Given the description of an element on the screen output the (x, y) to click on. 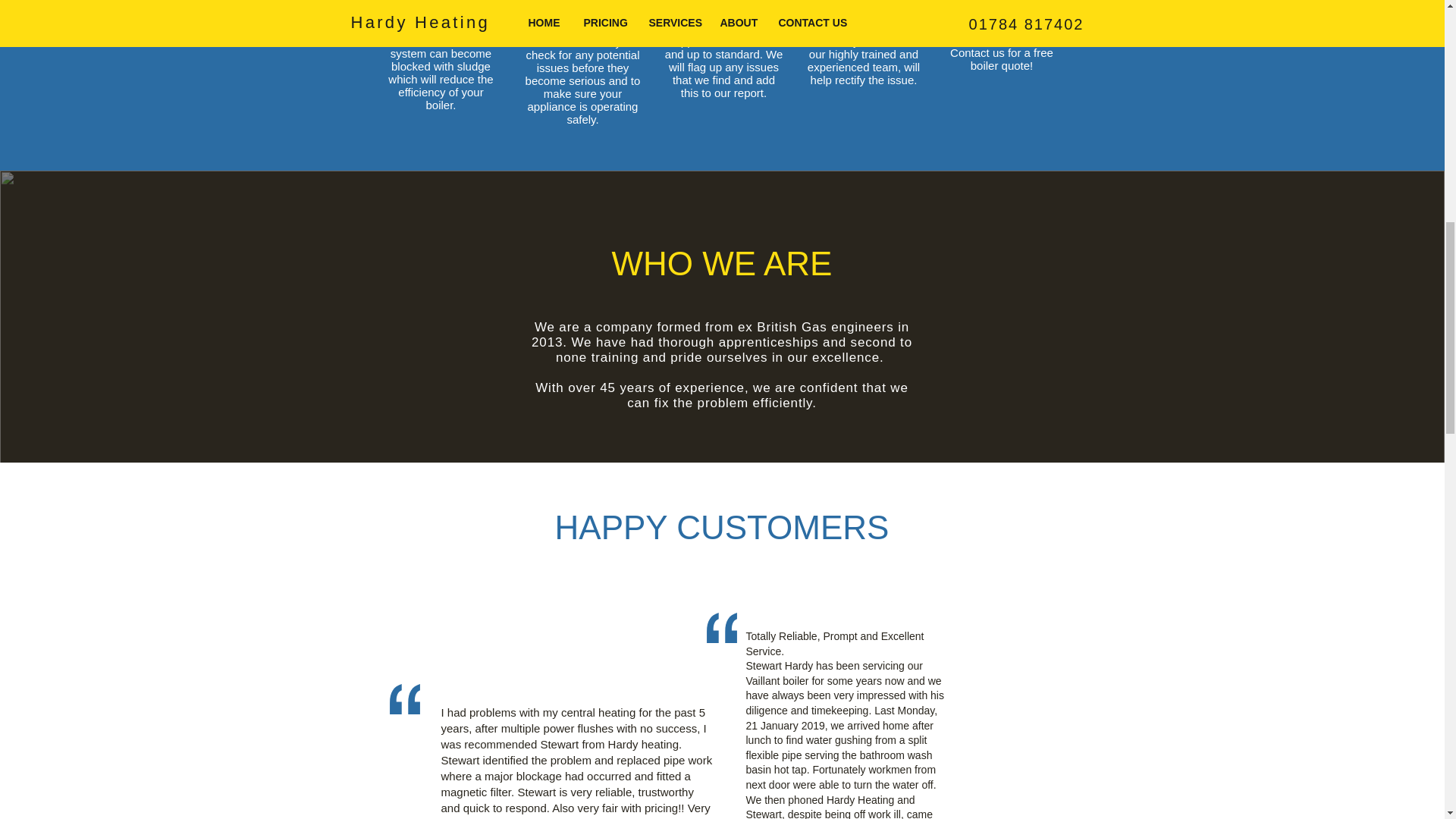
Totally Reliable, Prompt and Excellent Service. (834, 643)
